Given the description of an element on the screen output the (x, y) to click on. 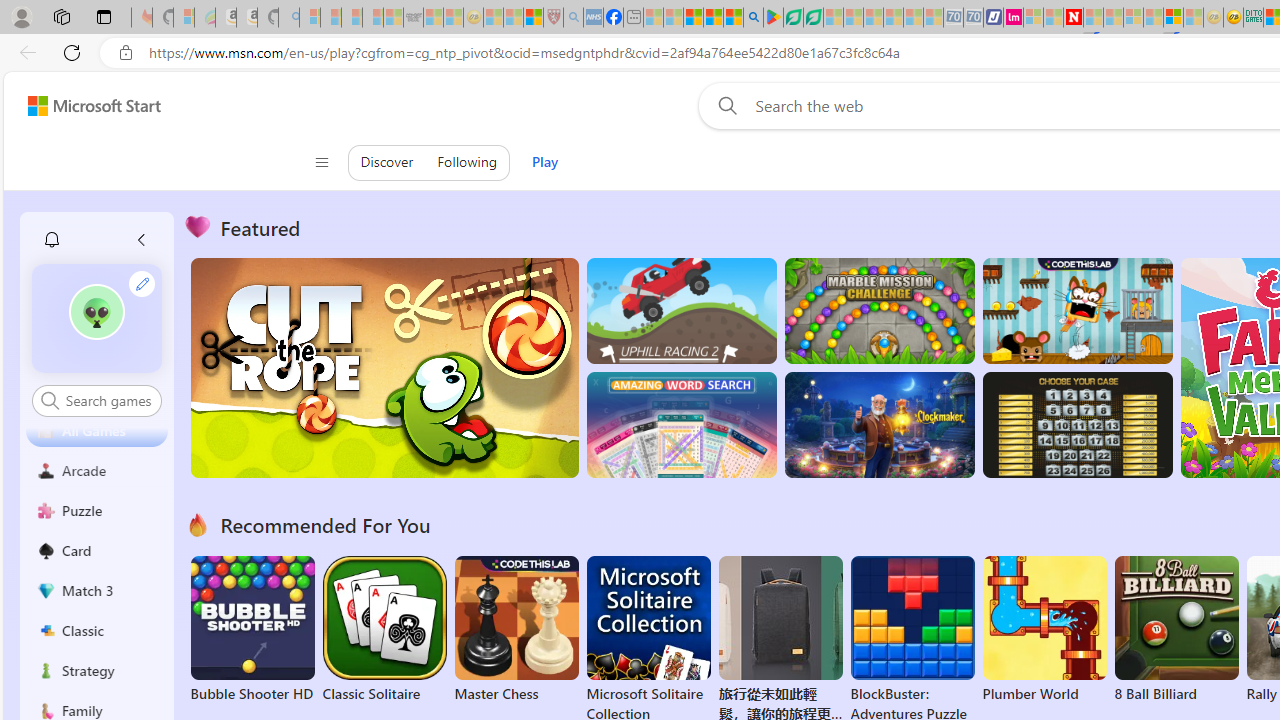
Class: profile-edit (142, 283)
AutomationID: control (108, 400)
Marble Mission : Challenge (879, 310)
Class: notification-item (51, 239)
